Given the description of an element on the screen output the (x, y) to click on. 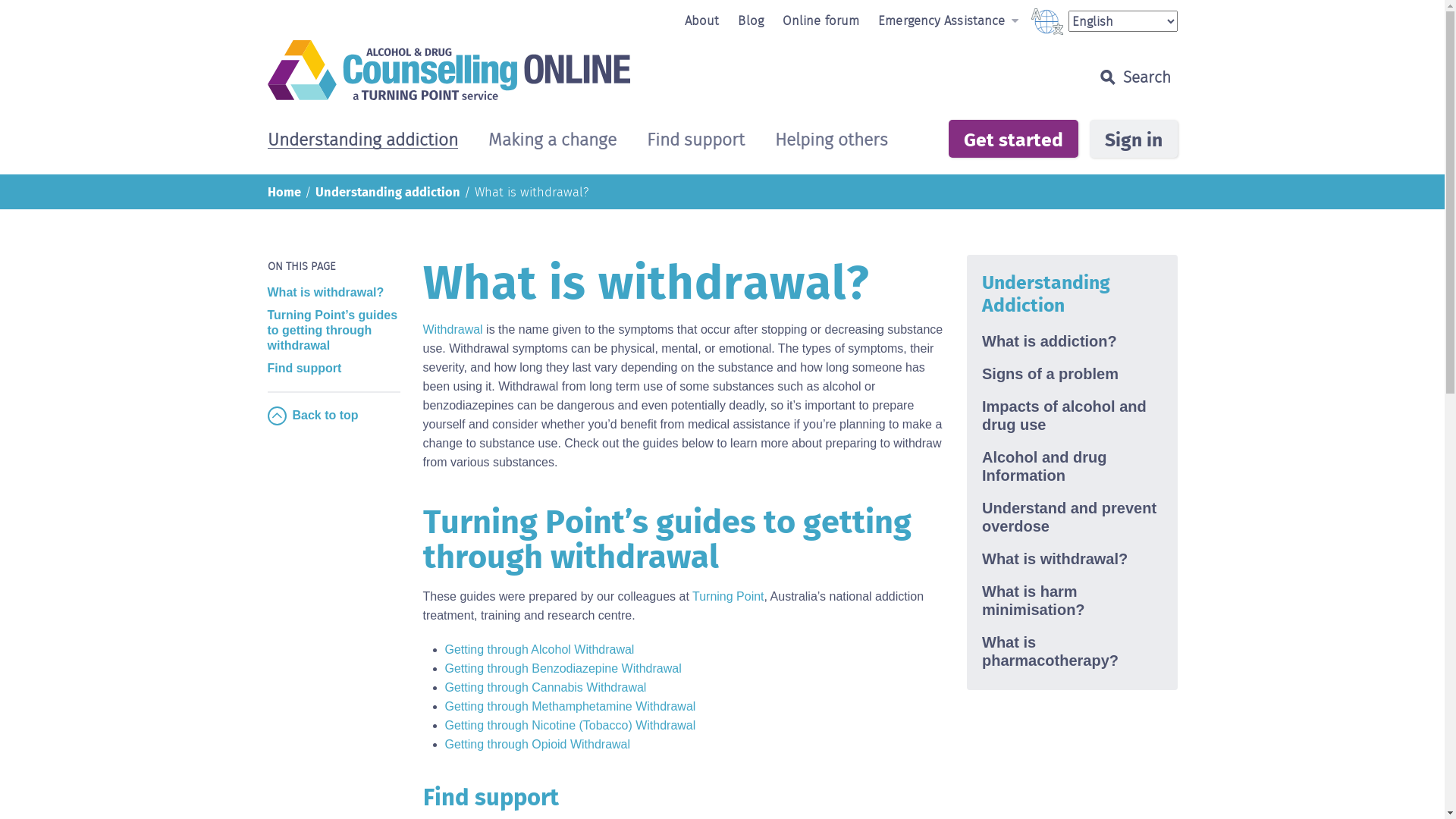
About Element type: text (701, 20)
Skip to main content Element type: text (0, 0)
What is withdrawal? Element type: text (332, 292)
Getting through Benzodiazepine Withdrawal Element type: text (562, 668)
Sign in Element type: text (1132, 138)
What is withdrawal? Element type: text (531, 191)
Impacts of alcohol and drug use Element type: text (1072, 413)
Getting through Nicotine (Tobacco) Withdrawal Element type: text (569, 724)
Home Element type: hover (605, 70)
Online forum Element type: text (820, 20)
Blog Element type: text (749, 20)
Back to top Element type: text (332, 415)
Getting through Opioid Withdrawal Element type: text (537, 743)
Get started Element type: text (1012, 138)
Getting through Methamphetamine Withdrawal Element type: text (569, 705)
Withdrawal Element type: text (453, 329)
Understanding addiction Element type: text (361, 140)
Understanding addiction Element type: text (387, 190)
What is harm minimisation? Element type: text (1072, 598)
Emergency Assistance Element type: text (948, 20)
Alcohol and drug Information Element type: text (1072, 464)
Making a change Element type: text (552, 140)
Getting through Cannabis Withdrawal Element type: text (545, 686)
What is withdrawal? Element type: text (1072, 556)
Turning Point Element type: text (728, 595)
Getting through Alcohol Withdrawal Element type: text (538, 649)
Understand and prevent overdose Element type: text (1072, 514)
Signs of a problem Element type: text (1072, 371)
Home Element type: text (283, 190)
What is addiction? Element type: text (1072, 339)
What is pharmacotherapy? Element type: text (1072, 649)
Find support Element type: text (332, 368)
Helping others Element type: text (831, 140)
Find support Element type: text (694, 140)
